Given the description of an element on the screen output the (x, y) to click on. 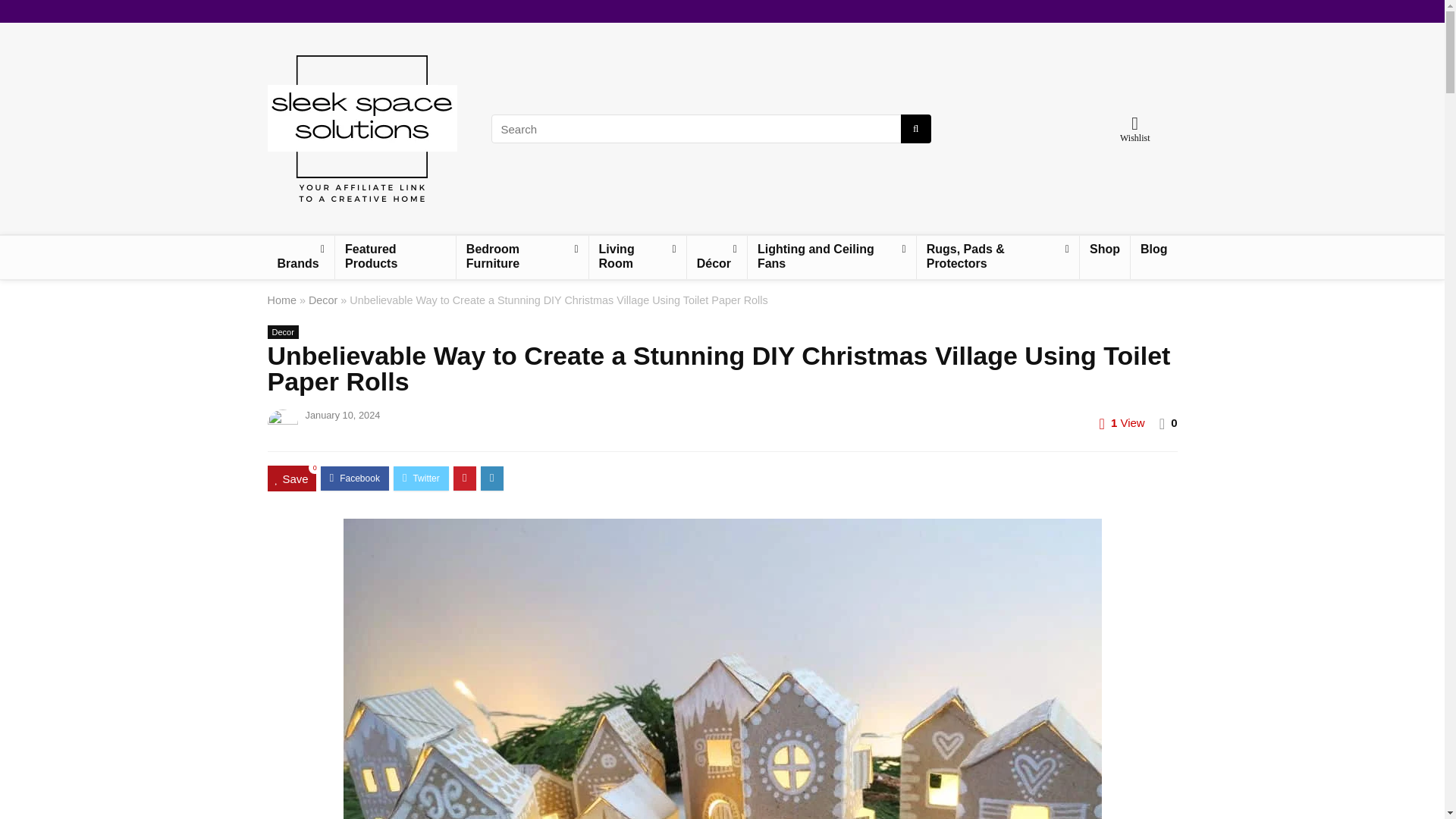
Bedroom Furniture (522, 257)
Featured Products (394, 257)
View all posts in Decor (282, 332)
Living Room (637, 257)
Brands (300, 257)
